Given the description of an element on the screen output the (x, y) to click on. 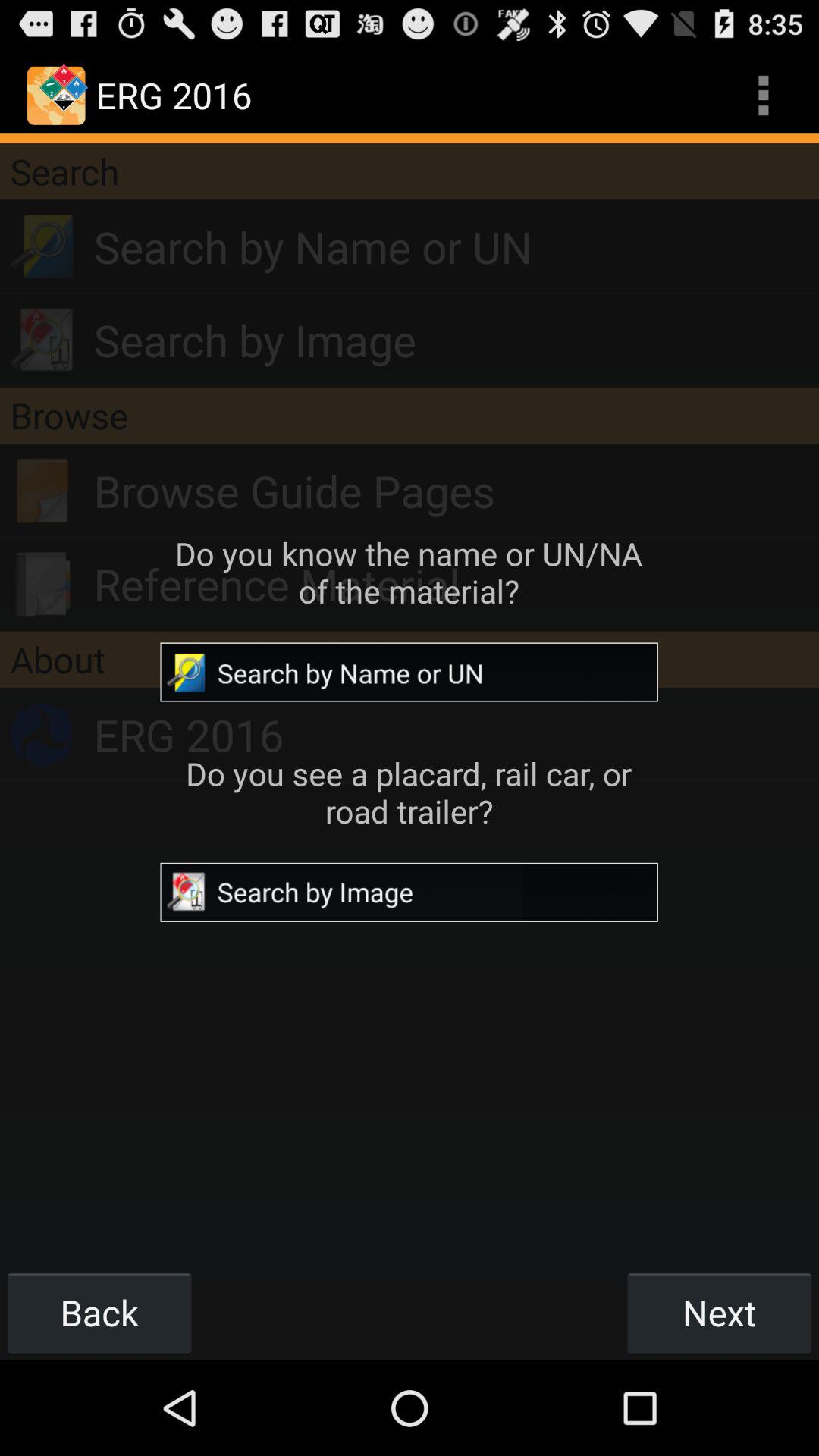
click the item next to the erg 2016 (763, 95)
